Given the description of an element on the screen output the (x, y) to click on. 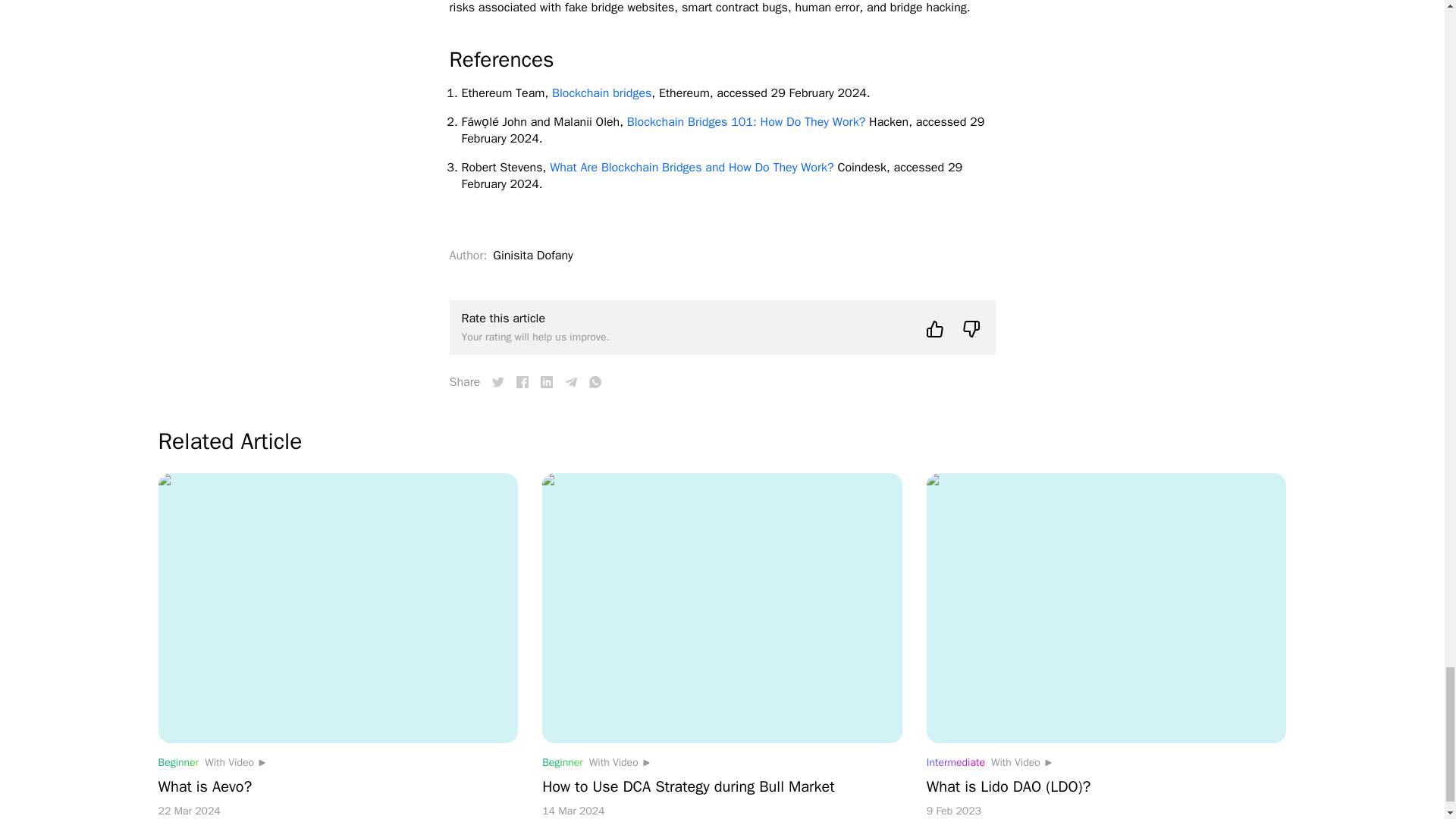
What Are Blockchain Bridges and How Do They Work? (692, 167)
Blockchain Bridges 101: How Do They Work? (746, 121)
Blockchain bridges (600, 92)
What are Blockchain Bridges? (522, 381)
